Given the description of an element on the screen output the (x, y) to click on. 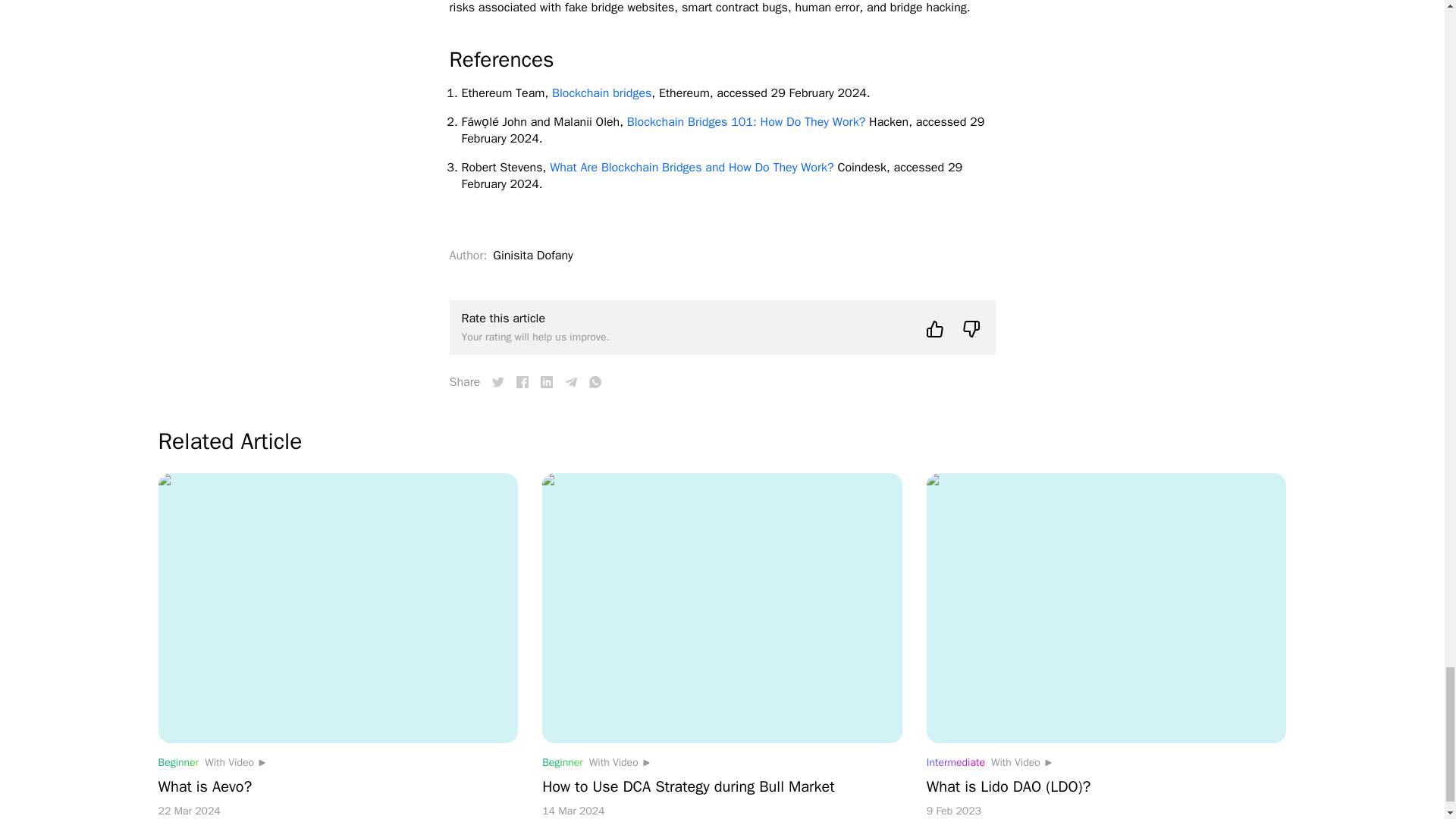
What Are Blockchain Bridges and How Do They Work? (692, 167)
Blockchain Bridges 101: How Do They Work? (746, 121)
Blockchain bridges (600, 92)
What are Blockchain Bridges? (522, 381)
